Given the description of an element on the screen output the (x, y) to click on. 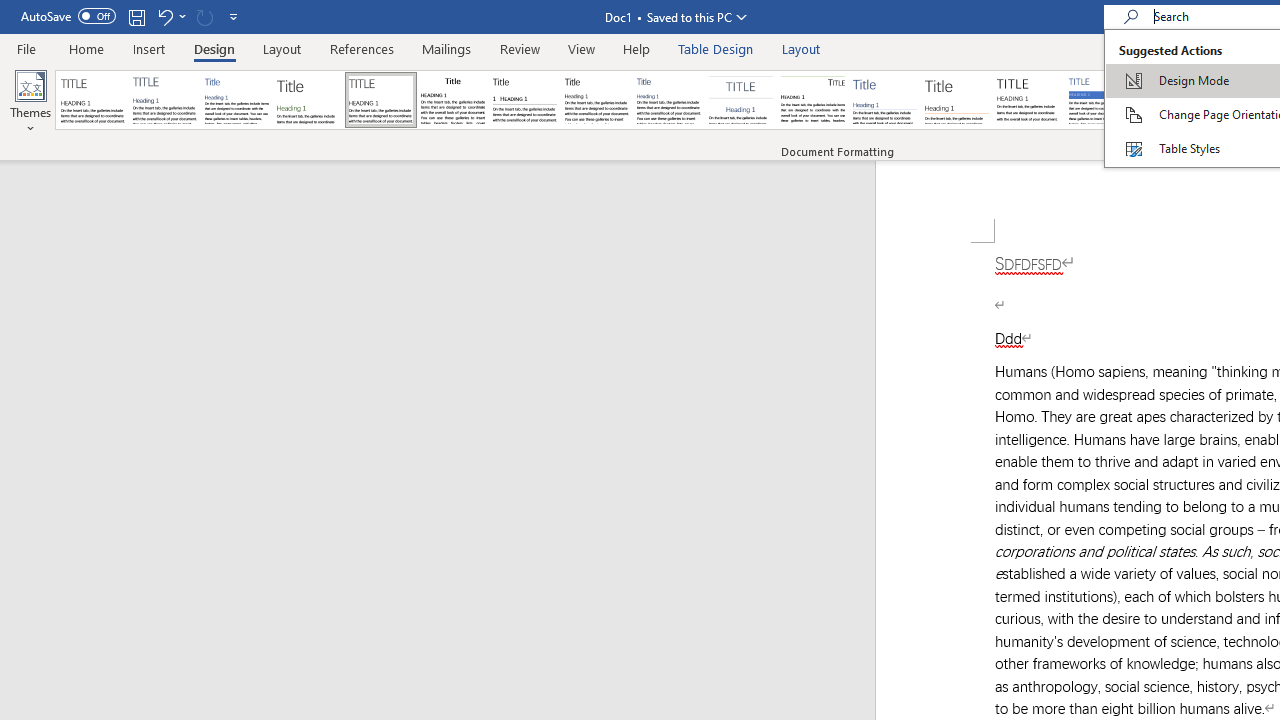
Minimalist (1028, 100)
Basic (Simple) (236, 100)
Themes (30, 102)
Basic (Stylish) (308, 100)
Can't Repeat (204, 15)
Table Design (715, 48)
Undo Apply Quick Style Set (170, 15)
